Given the description of an element on the screen output the (x, y) to click on. 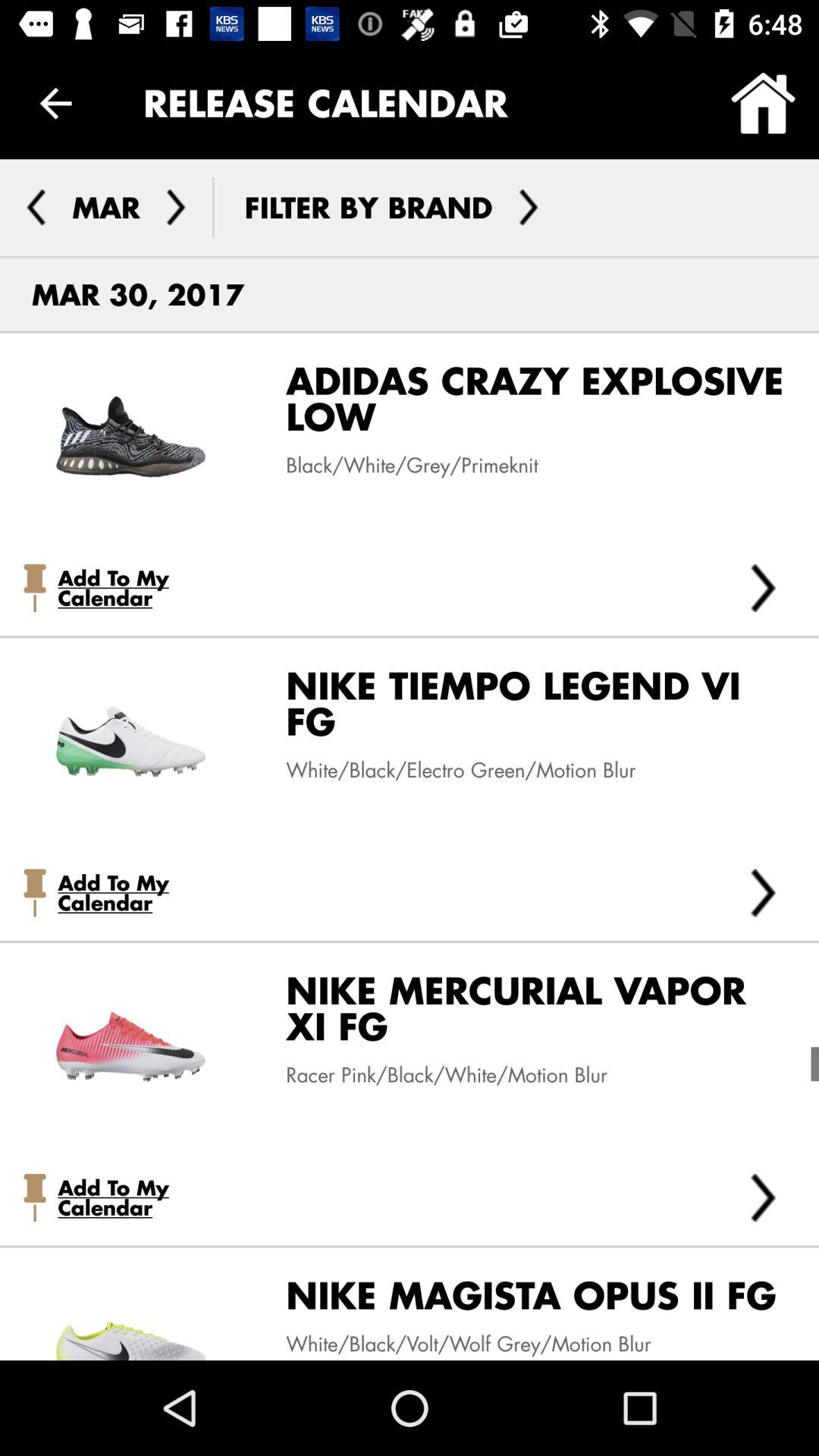
swipe until the nike mercurial vapor item (524, 1013)
